Given the description of an element on the screen output the (x, y) to click on. 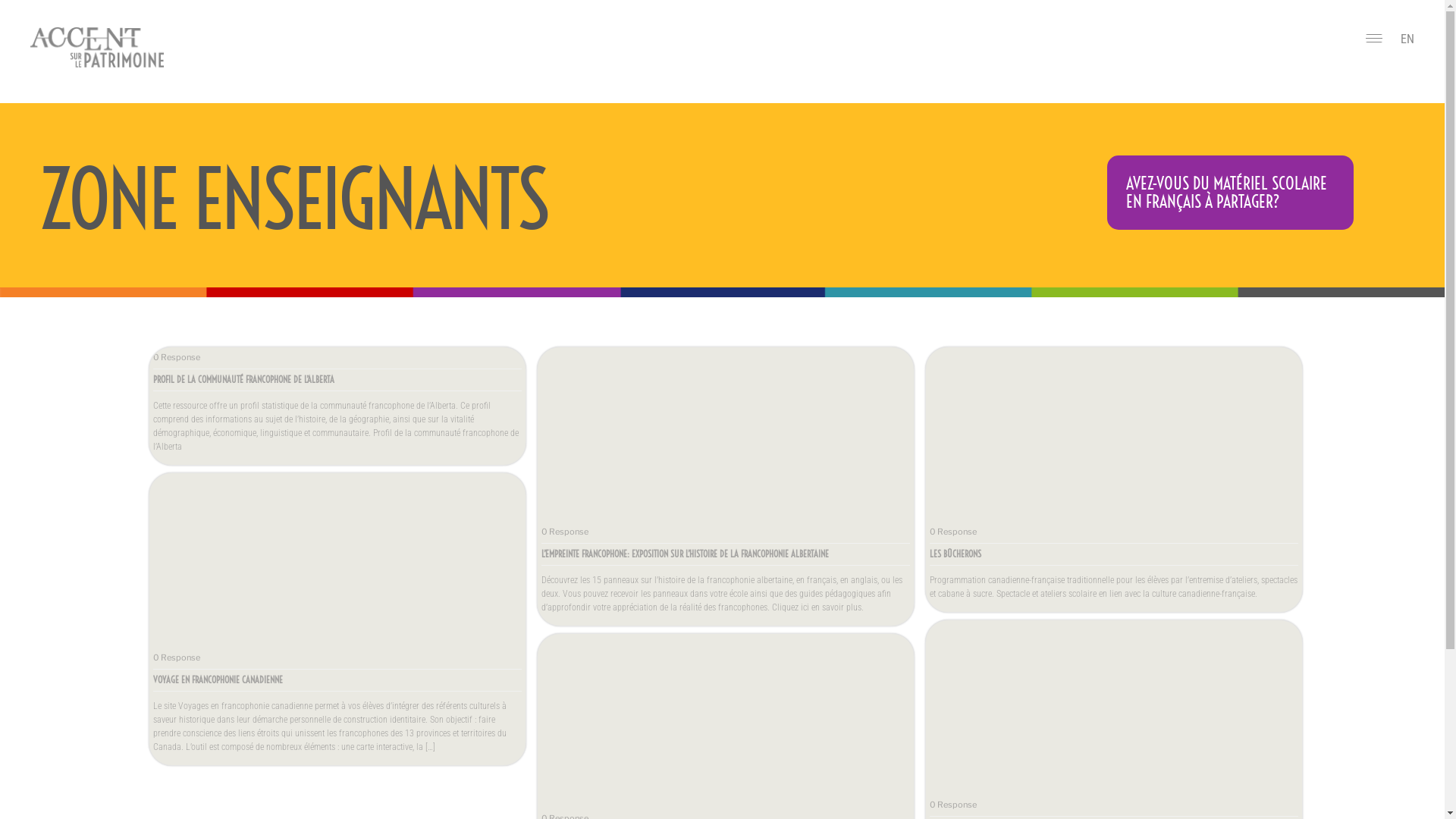
0 Response Element type: text (564, 531)
0 Response Element type: text (176, 657)
0 Response Element type: text (176, 356)
0 Response Element type: text (952, 804)
0 Response Element type: text (952, 531)
EN Element type: text (1407, 38)
VOYAGE EN FRANCOPHONIE CANADIENNE Element type: text (217, 678)
